Given the description of an element on the screen output the (x, y) to click on. 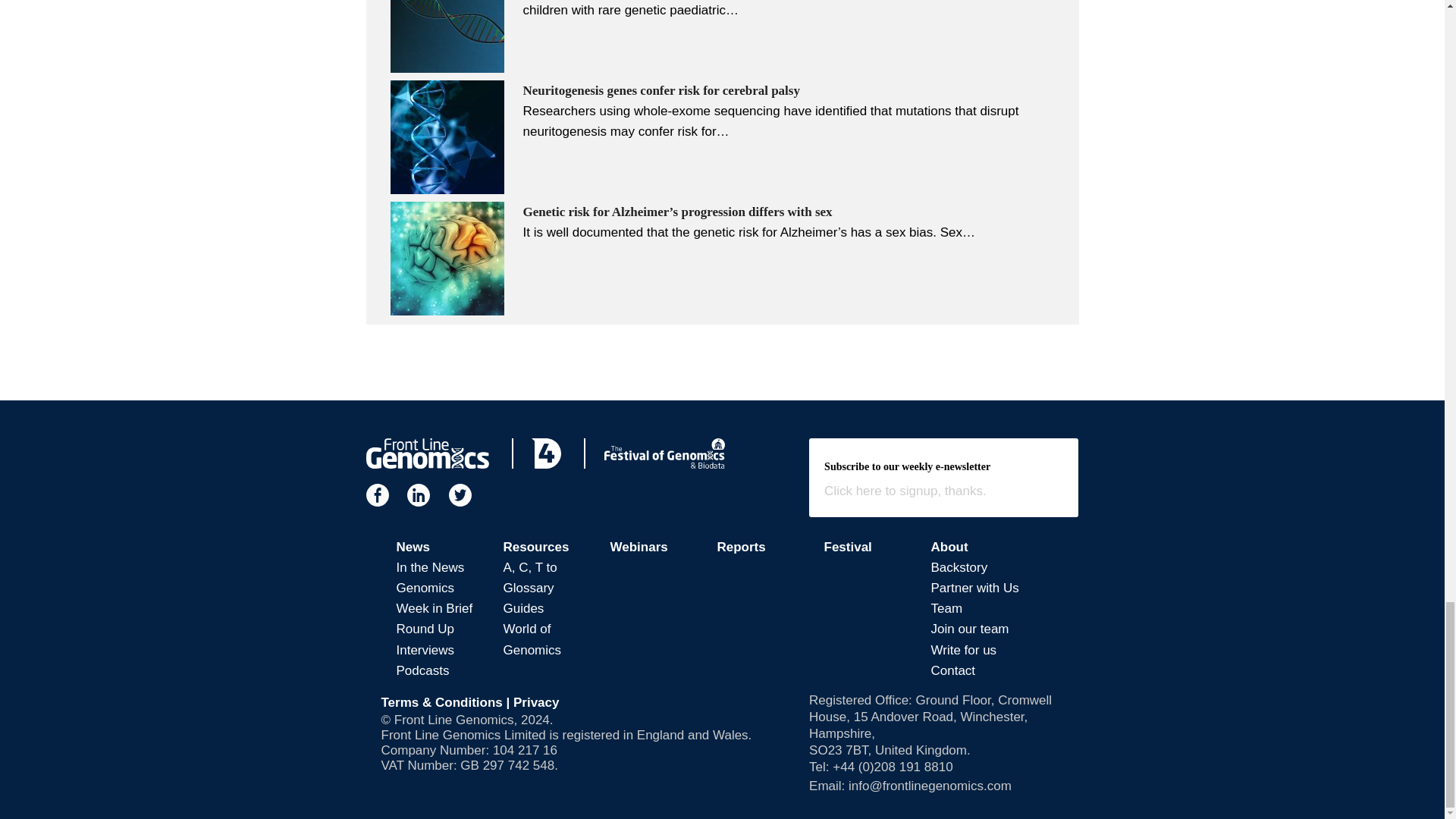
Front Line Genomics (426, 453)
LinkedIn (418, 495)
Facebook (376, 495)
D4 (545, 453)
Festival of Genomics (664, 453)
Twitter (459, 495)
